Given the description of an element on the screen output the (x, y) to click on. 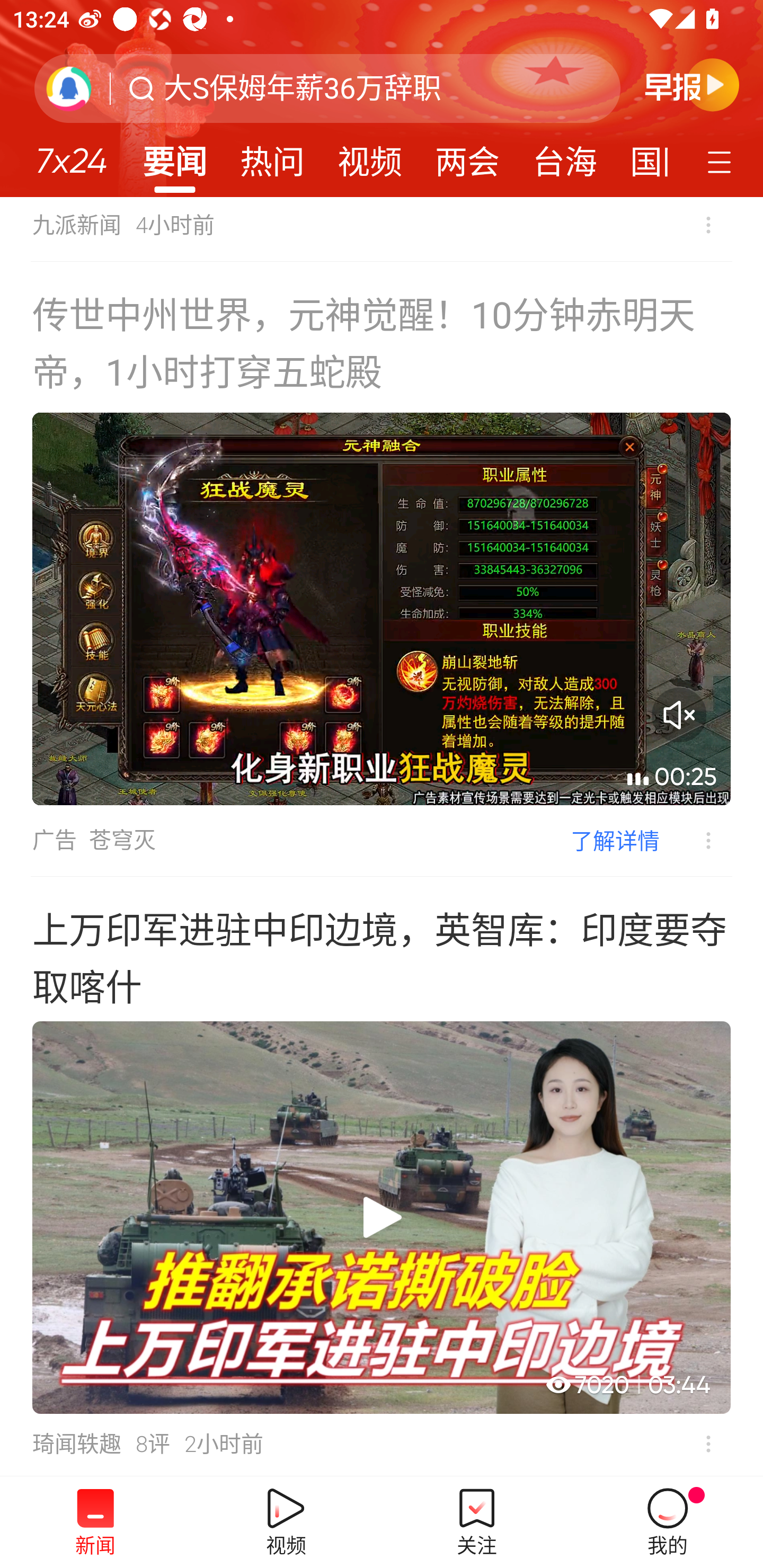
早晚报 (691, 84)
刷新 (68, 88)
大S保姆年薪36万辞职 (302, 88)
7x24 (70, 154)
要闻 (174, 155)
热问 (272, 155)
视频 (369, 155)
两会 (466, 155)
台海 (564, 155)
 定制频道 (721, 160)
 不感兴趣 (707, 224)
00:25 音量开关 (381, 608)
音量开关 (678, 714)
 不感兴趣 (694, 840)
了解详情 (614, 840)
广告 (54, 839)
苍穹灭 (122, 839)
 不感兴趣 (707, 1444)
